Given the description of an element on the screen output the (x, y) to click on. 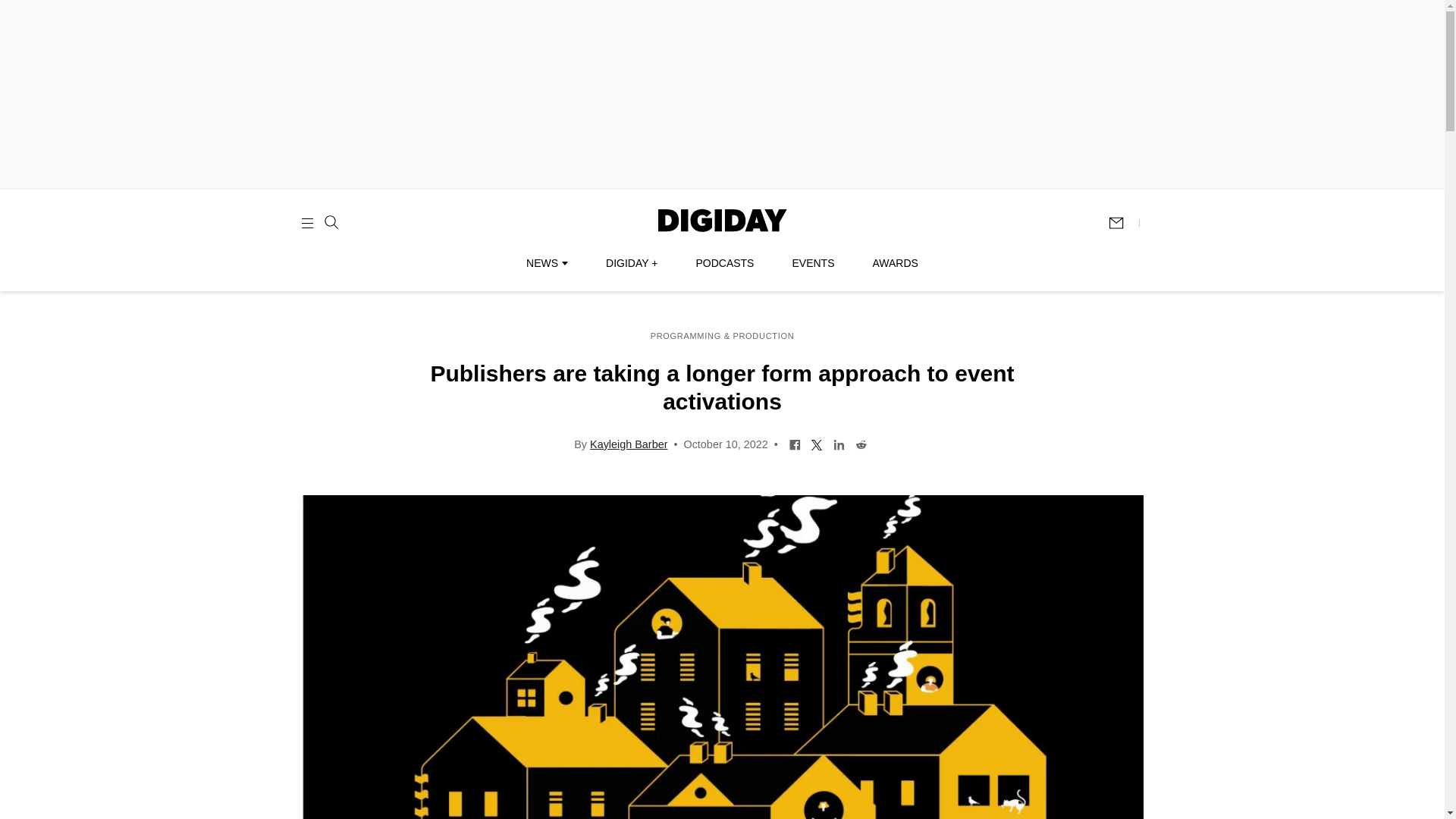
EVENTS (813, 262)
AWARDS (894, 262)
PODCASTS (725, 262)
Share on Reddit (860, 443)
Share on Facebook (795, 443)
Share on LinkedIn (838, 443)
Subscribe (1123, 223)
NEWS (546, 262)
Share on Twitter (817, 443)
